Given the description of an element on the screen output the (x, y) to click on. 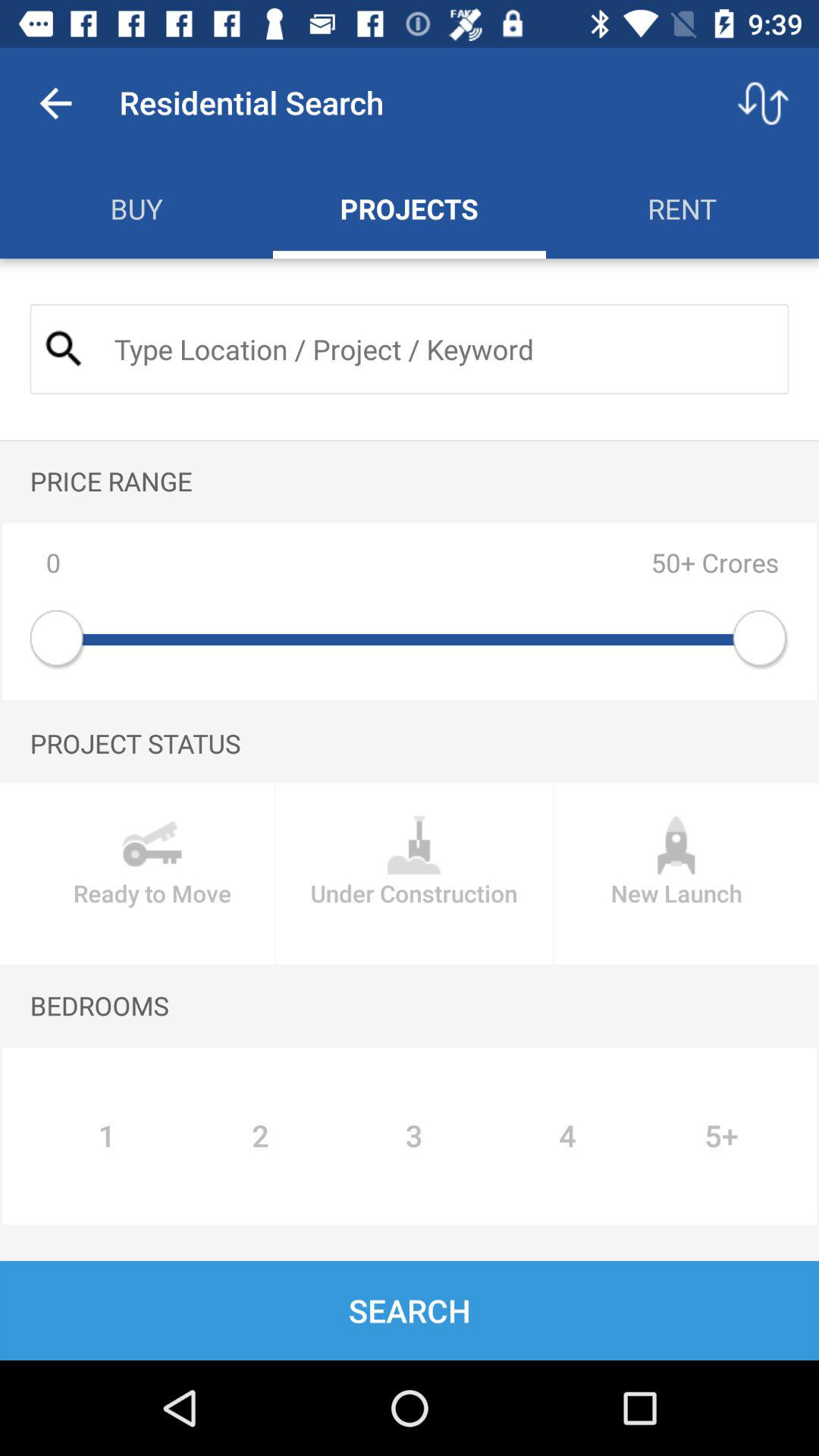
turn on the icon to the left of 2 icon (106, 1135)
